Given the description of an element on the screen output the (x, y) to click on. 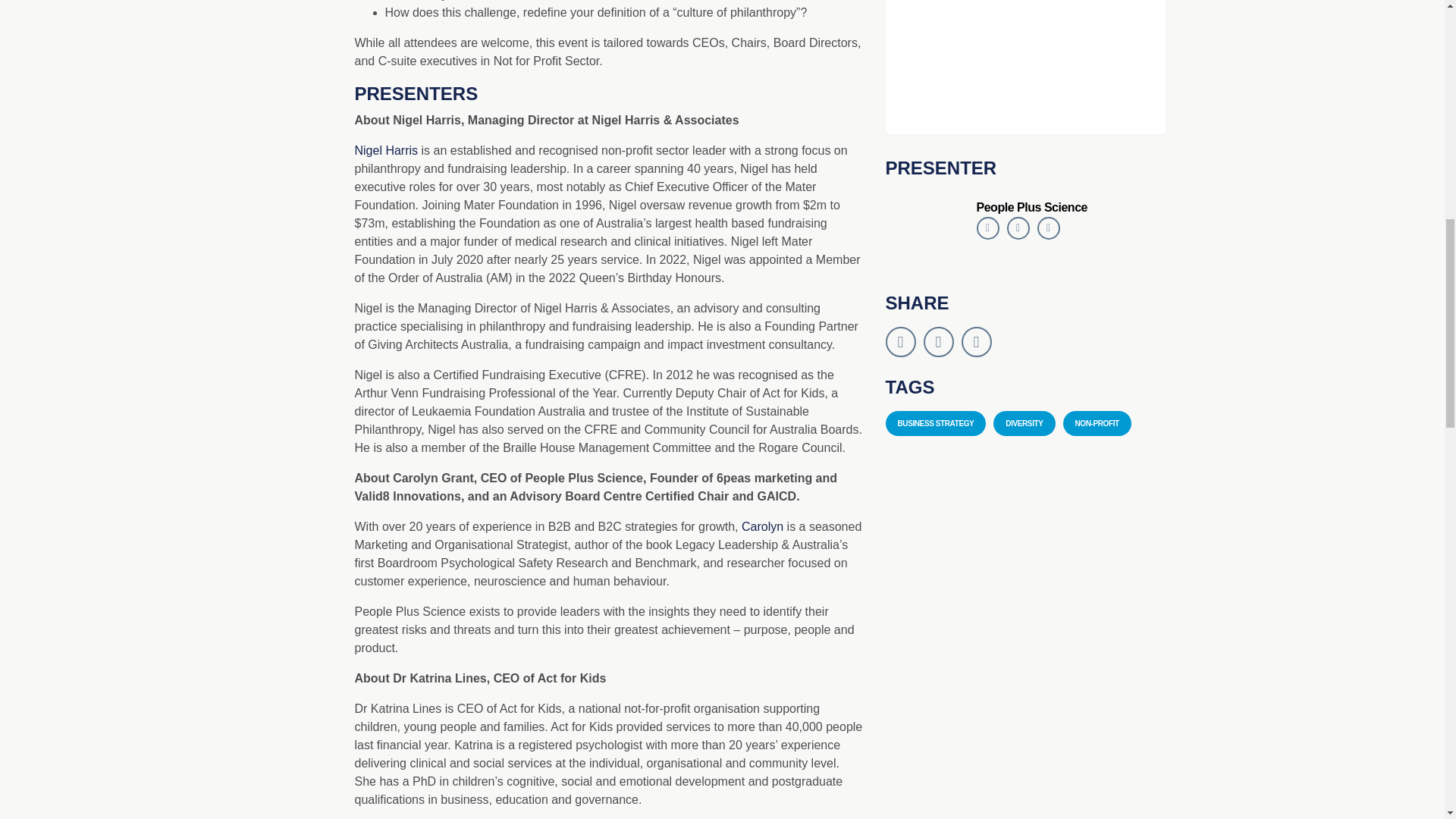
Nigel Harris (387, 150)
Carolyn (762, 526)
BUSINESS STRATEGY (936, 423)
DIVERSITY (1023, 423)
NON-PROFIT (1096, 423)
